Given the description of an element on the screen output the (x, y) to click on. 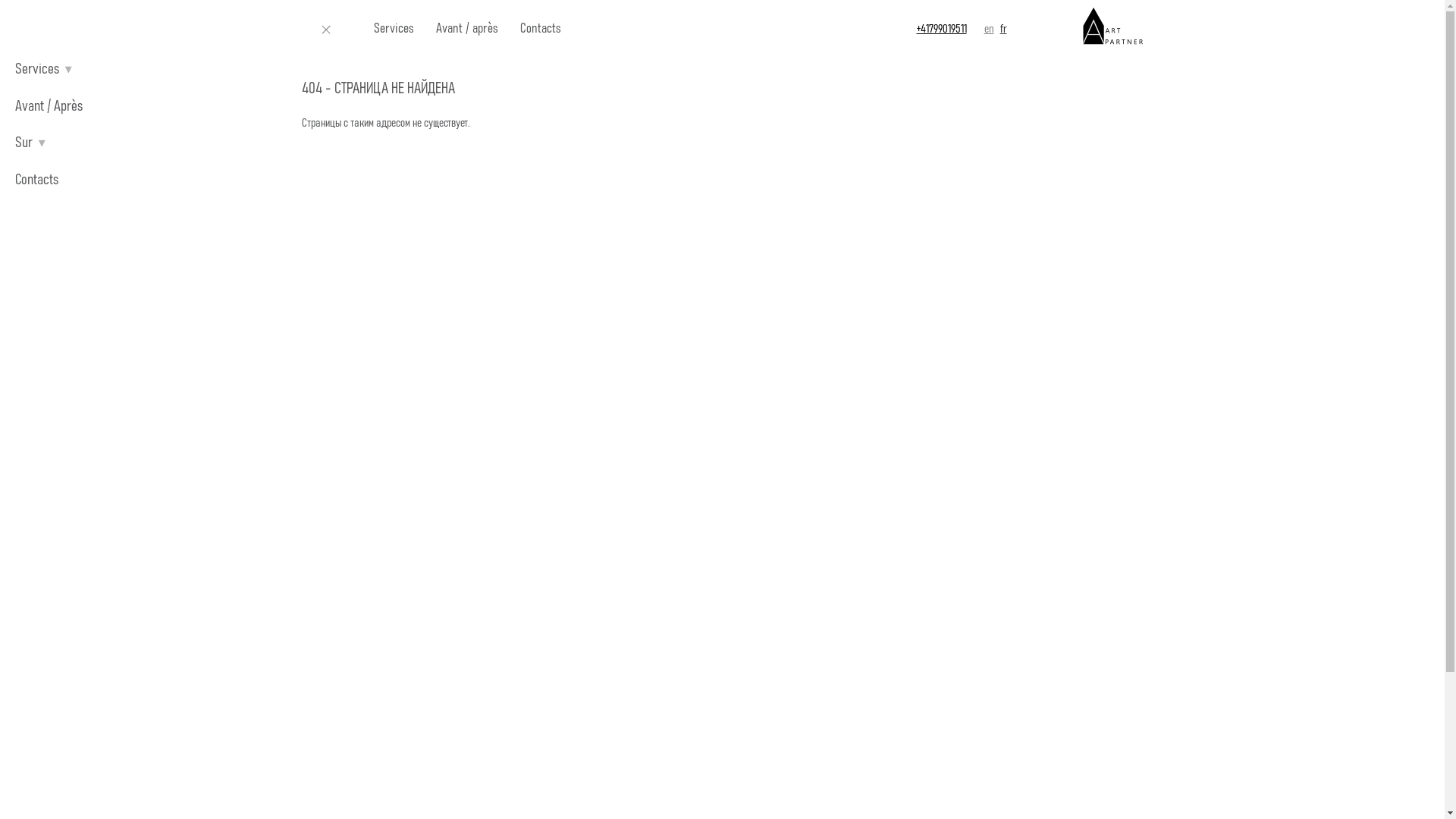
Services Element type: text (392, 28)
+41799019511 Element type: text (941, 28)
Contacts Element type: text (540, 28)
Contacts Element type: text (36, 179)
Services Element type: text (37, 68)
en Element type: text (989, 28)
Sur Element type: text (23, 142)
fr Element type: text (1002, 28)
